Given the description of an element on the screen output the (x, y) to click on. 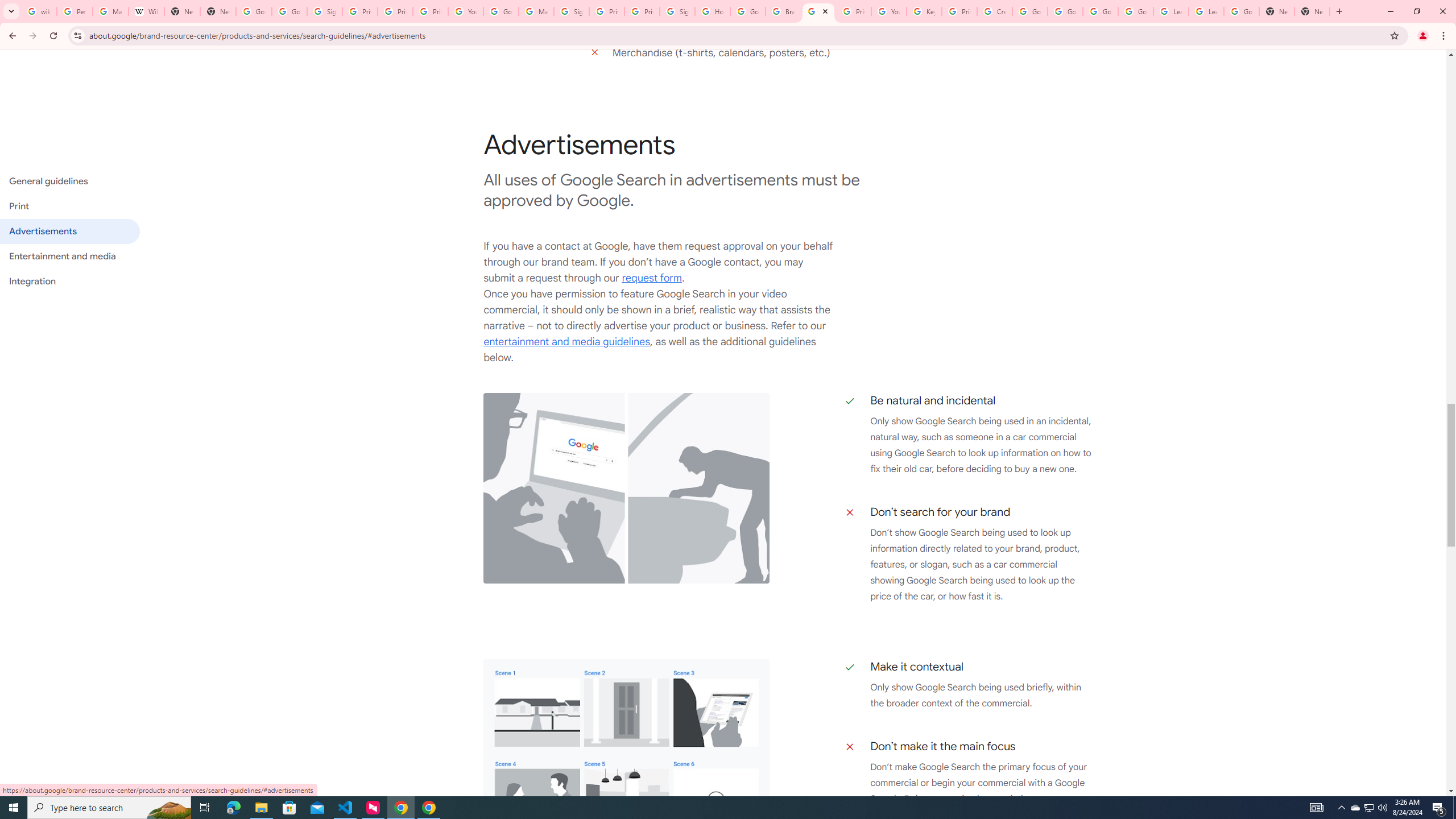
Print (69, 206)
Google Account Help (1029, 11)
YouTube (888, 11)
Integration (69, 281)
New Tab (1276, 11)
entertainment and media guidelines (566, 341)
Google Account (1240, 11)
Sign in - Google Accounts (571, 11)
